Given the description of an element on the screen output the (x, y) to click on. 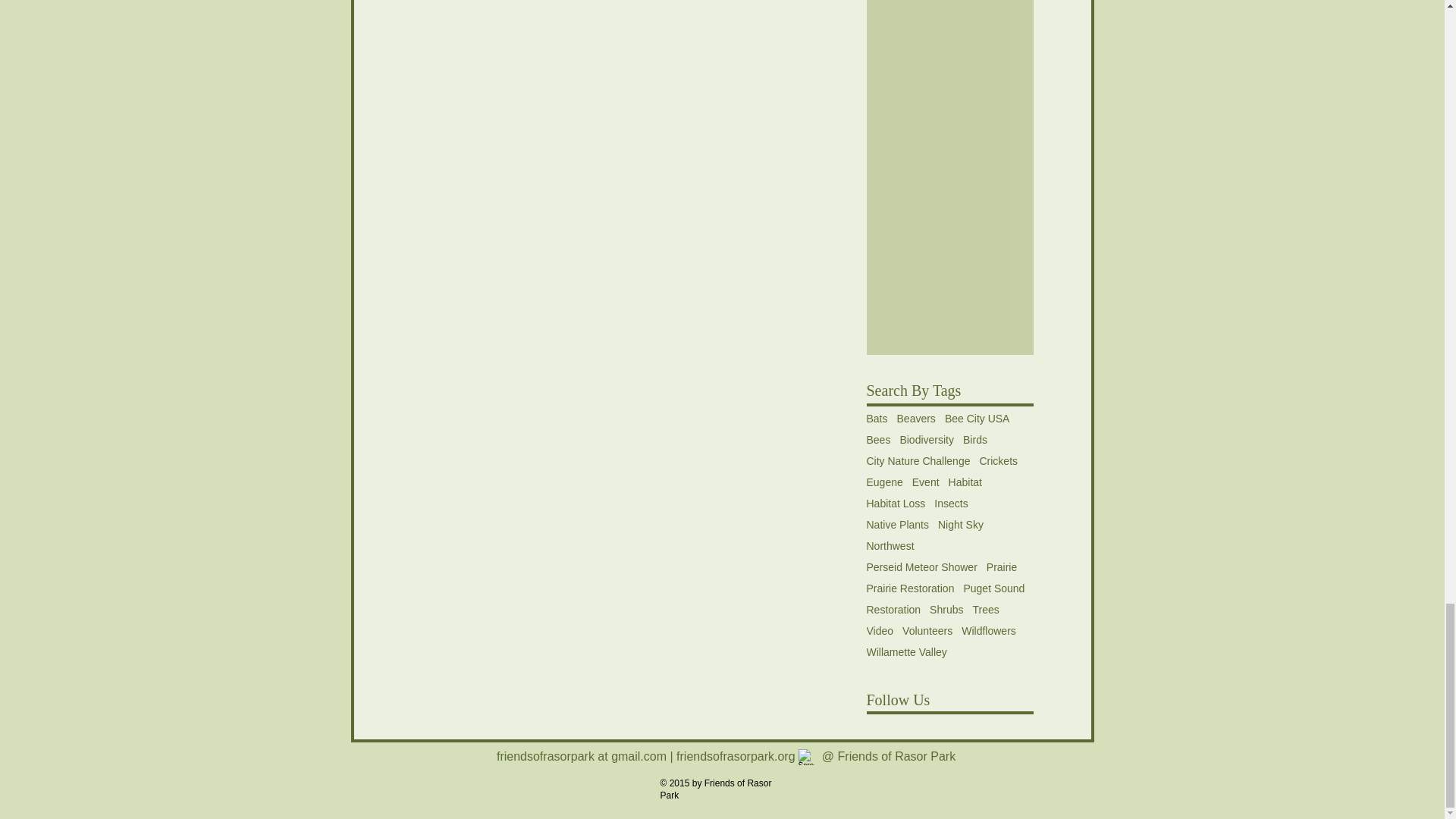
Bats (876, 418)
City Nature Challenge (917, 460)
Insects (951, 503)
Eugene (884, 481)
Bees (877, 439)
Bee City USA (977, 418)
Habitat Loss (895, 503)
Birds (974, 439)
Crickets (997, 460)
Habitat (965, 481)
